Given the description of an element on the screen output the (x, y) to click on. 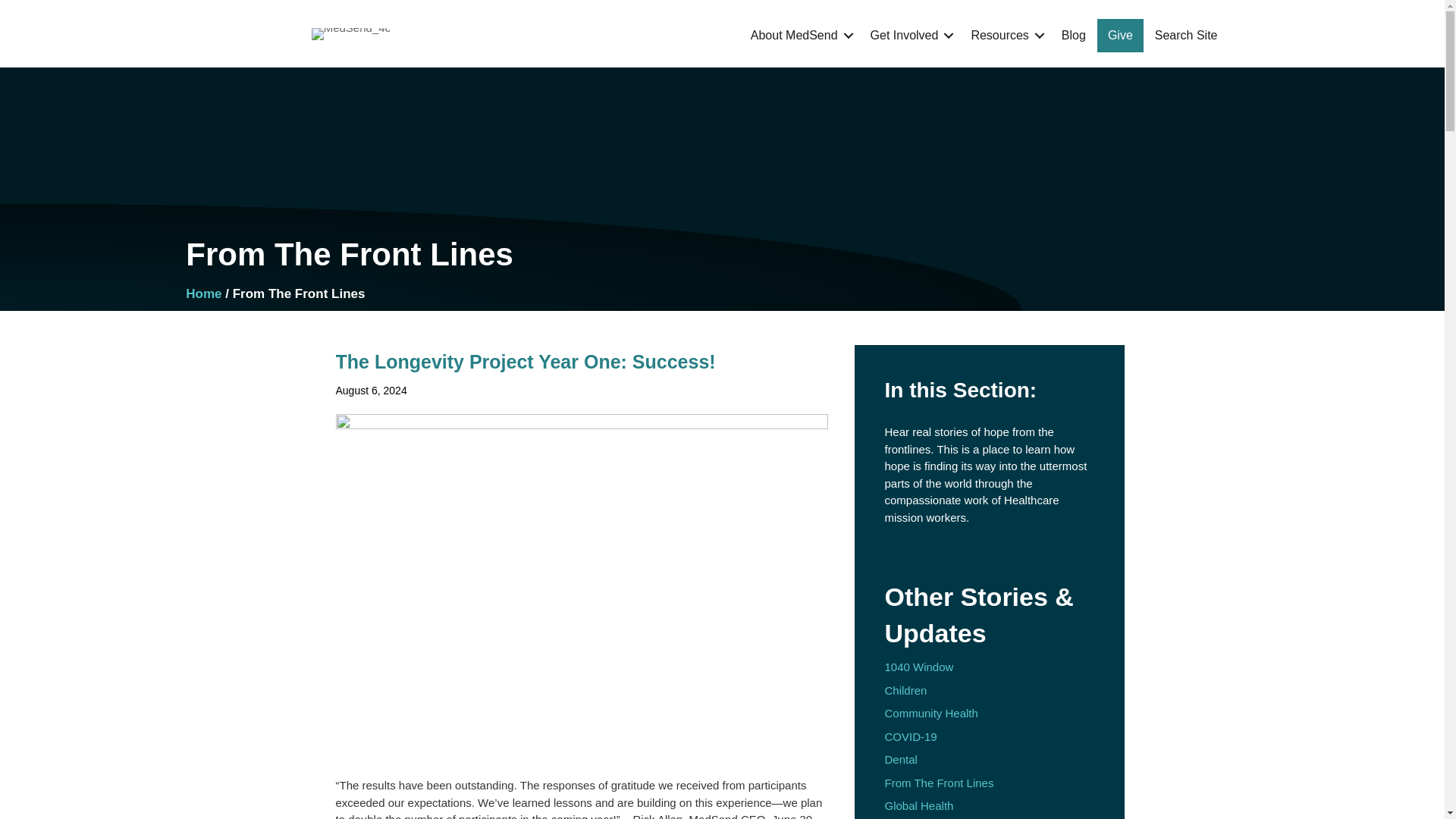
Get Involved with MedSend (909, 35)
About MedSend (799, 35)
Donate to MedSend (1119, 35)
About MedSend (799, 35)
The Longevity Project Year One: Success! (524, 361)
The Longevity Project Year One: Success! (524, 361)
Home (203, 293)
Latest Stories from MedSend (1073, 35)
Give (1119, 35)
Search Site (1186, 35)
